Given the description of an element on the screen output the (x, y) to click on. 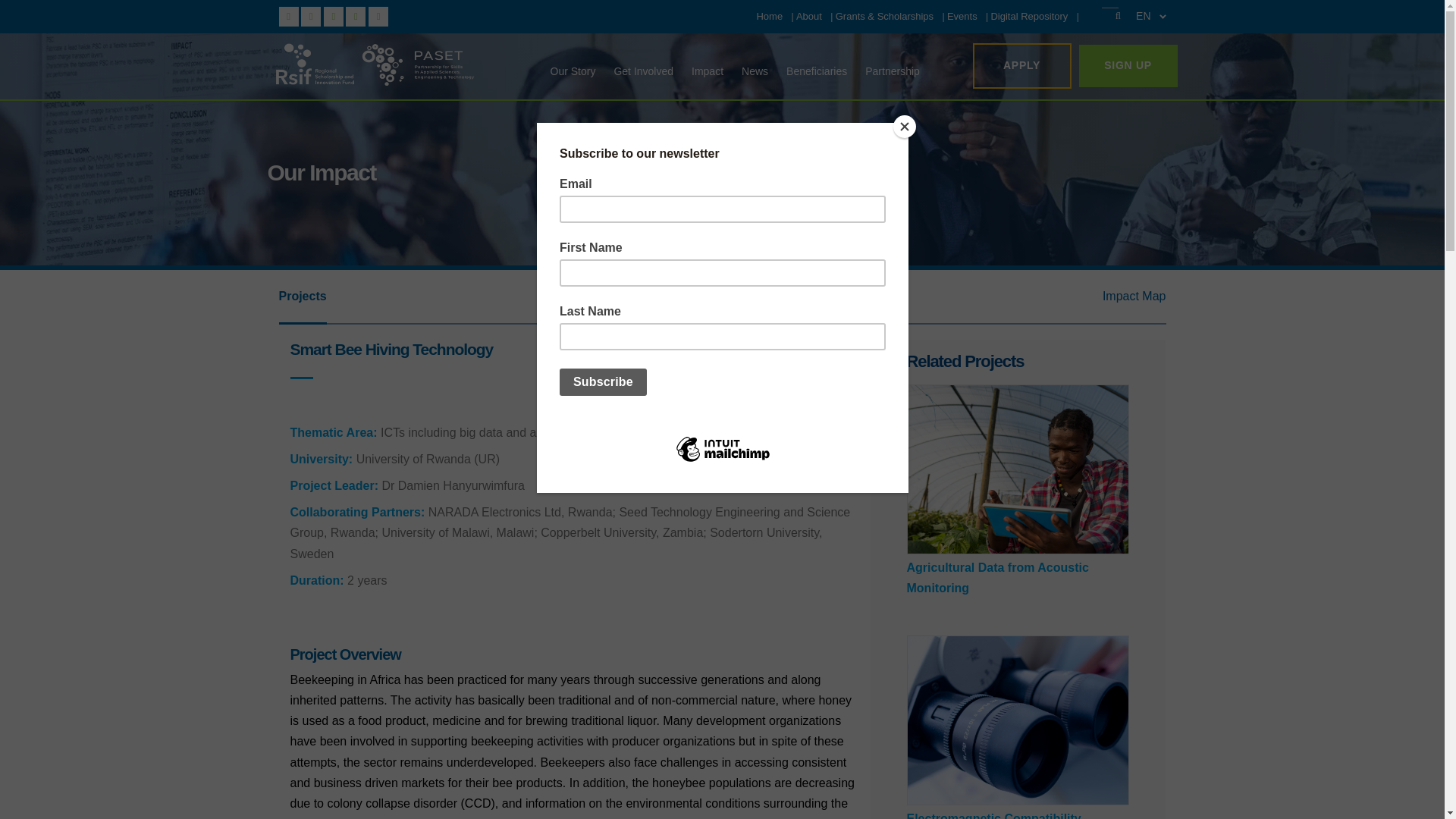
Home (769, 16)
Events (961, 16)
About (809, 16)
Events (961, 16)
Twitter (312, 15)
Linked In (378, 15)
About (809, 16)
Home (769, 16)
Digital Repository (1028, 16)
Digital Repository (1028, 16)
Linked In (357, 15)
Linked In (334, 15)
Facebook (290, 15)
